Given the description of an element on the screen output the (x, y) to click on. 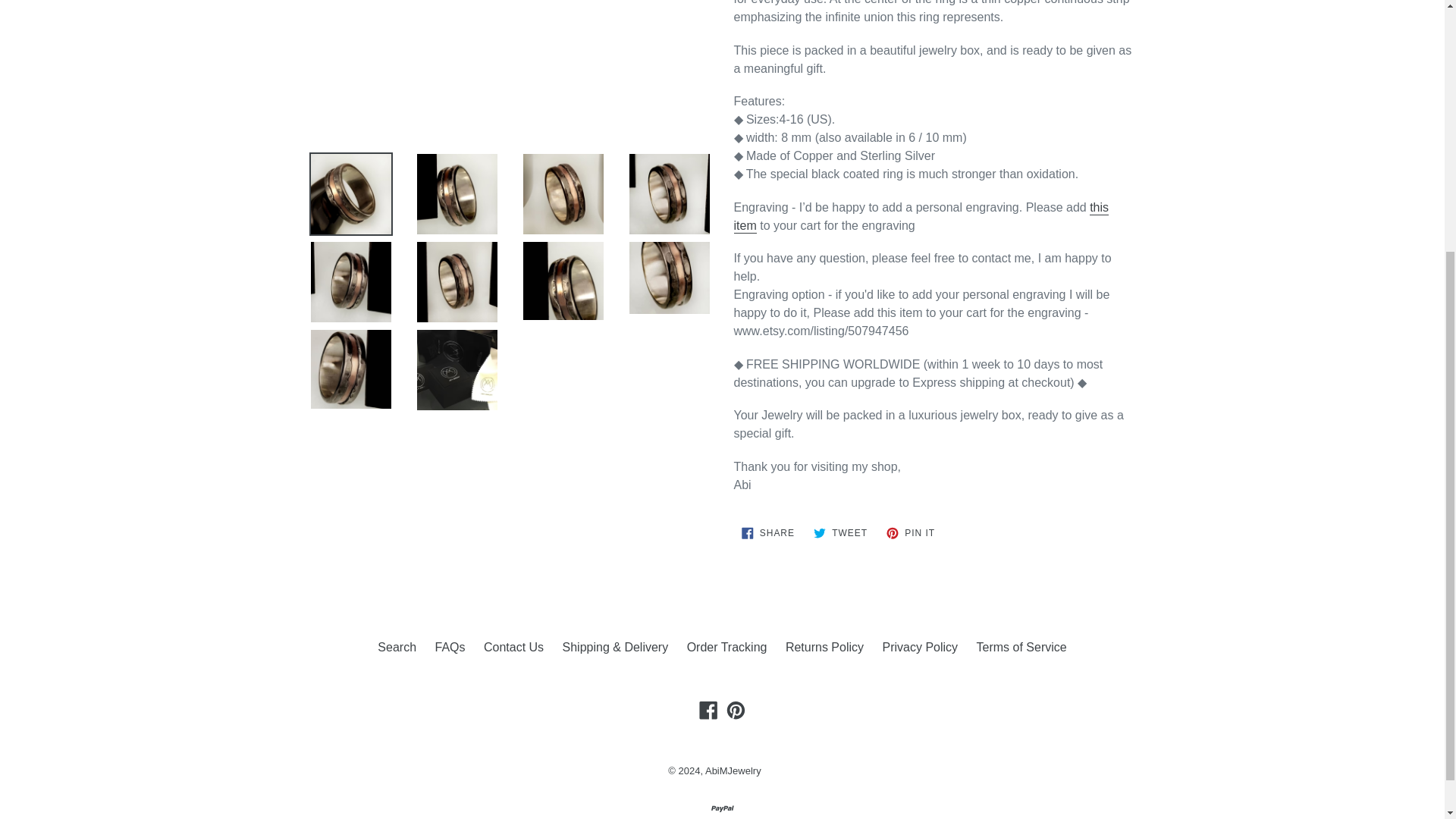
this item (921, 216)
Adding Engraving (921, 216)
FAQs (767, 532)
Contact Us (448, 646)
Order Tracking (910, 532)
Search (513, 646)
